Given the description of an element on the screen output the (x, y) to click on. 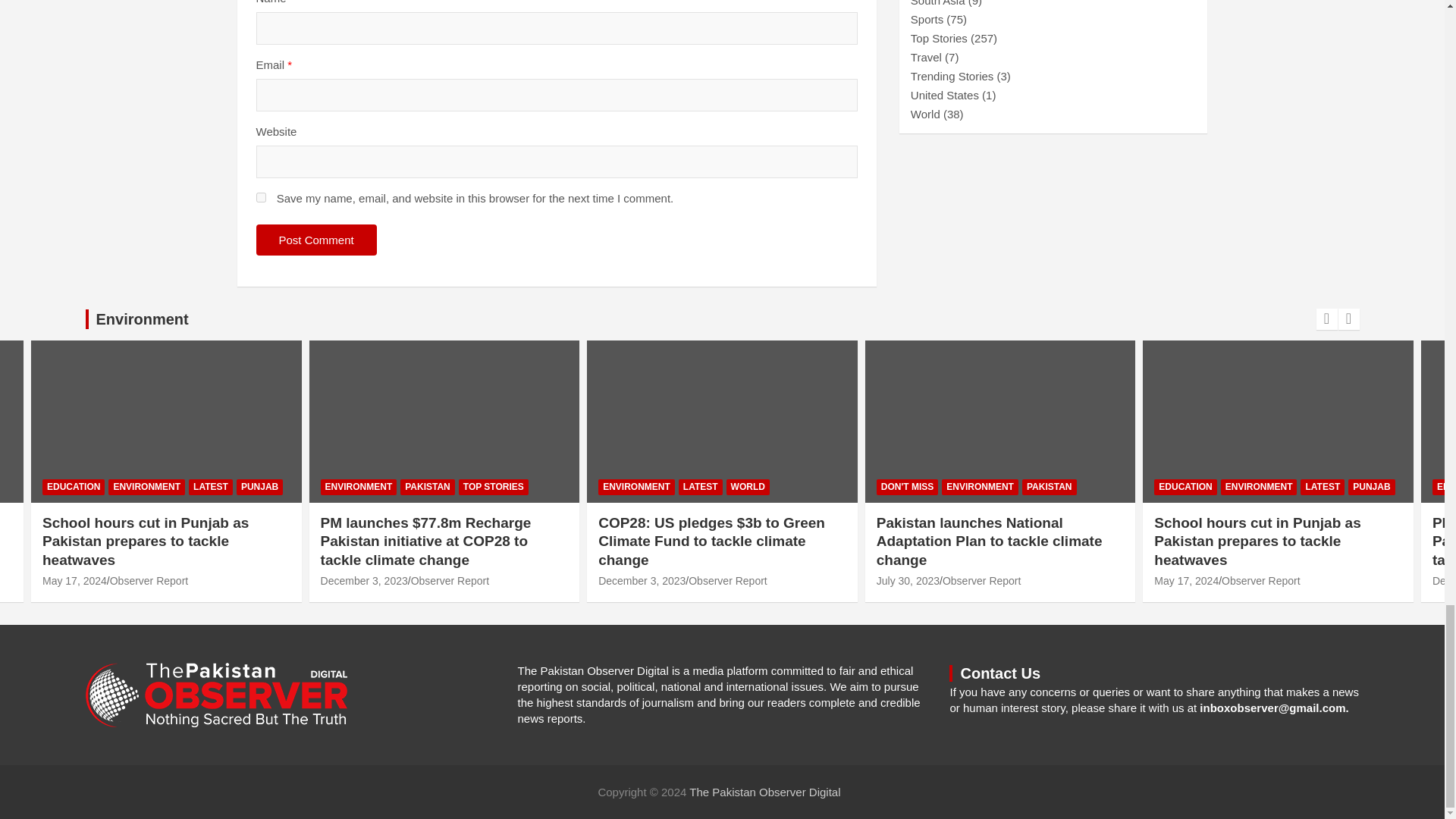
yes (261, 197)
Post Comment (316, 239)
